Given the description of an element on the screen output the (x, y) to click on. 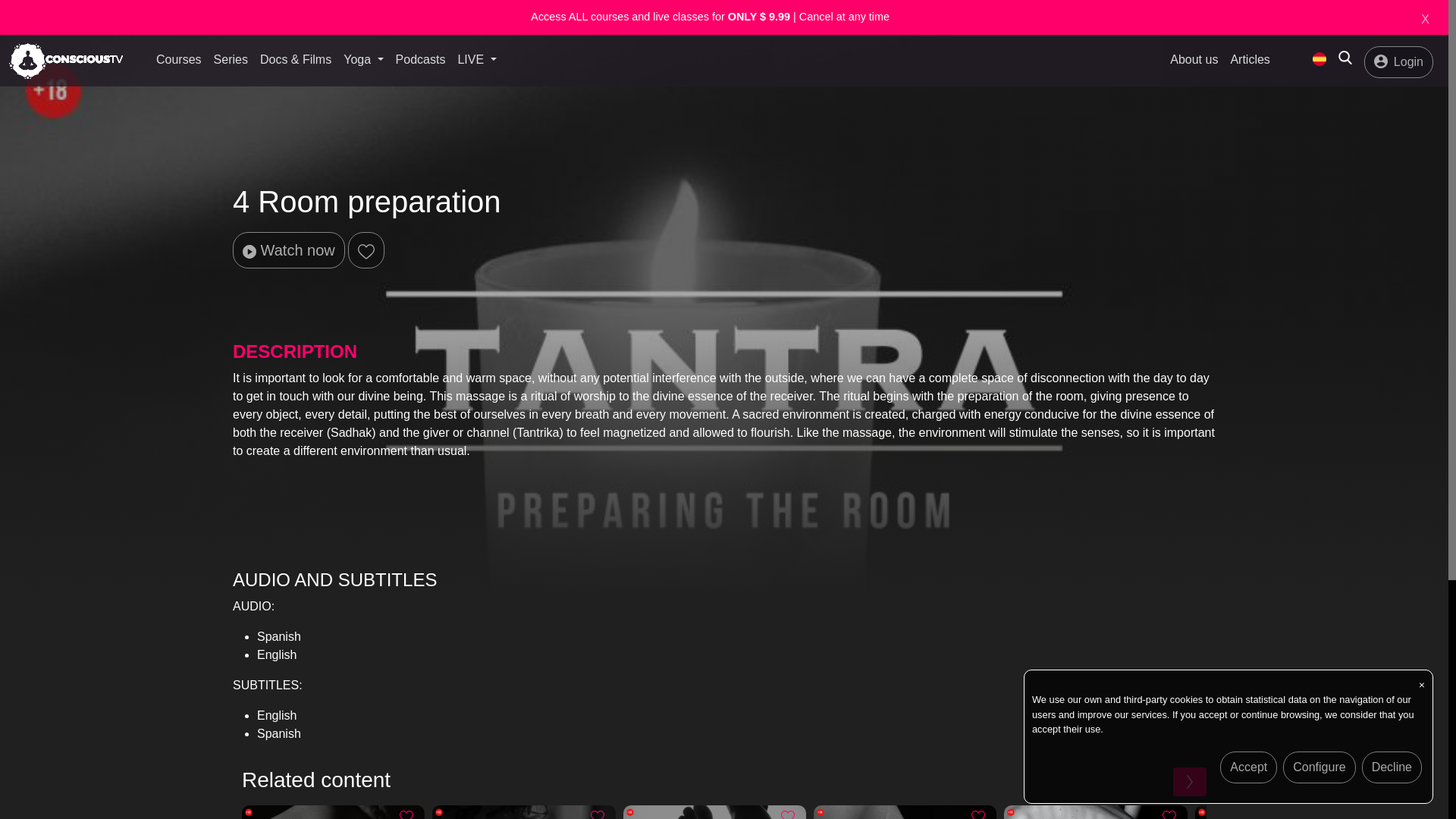
Add to favorites (787, 814)
Add to favorites (405, 814)
Conscious TV (1319, 59)
Add to favorites (597, 814)
LIVE (476, 60)
Add to favorites (978, 814)
Login (1398, 61)
5 Connection exercises (333, 812)
Articles (1249, 60)
Podcasts (420, 60)
X (1424, 19)
Conscious TV (65, 60)
Series (230, 60)
Add to favorites (1168, 814)
About us (1193, 60)
